Given the description of an element on the screen output the (x, y) to click on. 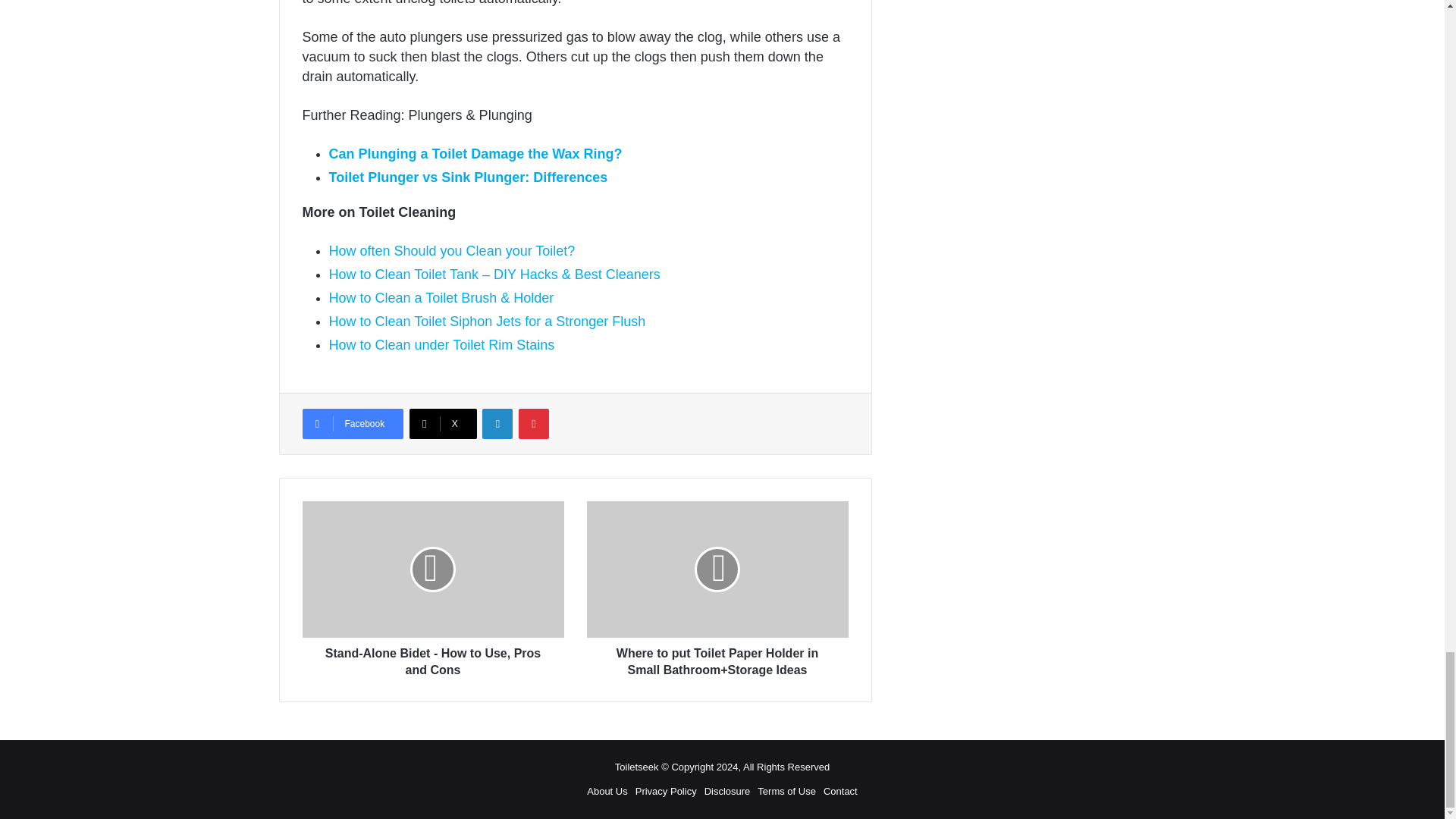
X (443, 423)
How to Clean under Toilet Rim Stains (441, 344)
Facebook (352, 423)
Stand-Alone Bidet - How to Use, Pros and Cons (432, 569)
LinkedIn (496, 423)
Toilet Plunger vs Sink Plunger: Differences (468, 177)
Can Plunging a Toilet Damage the Wax Ring? (476, 153)
Pinterest (533, 423)
X (443, 423)
Pinterest (533, 423)
